Given the description of an element on the screen output the (x, y) to click on. 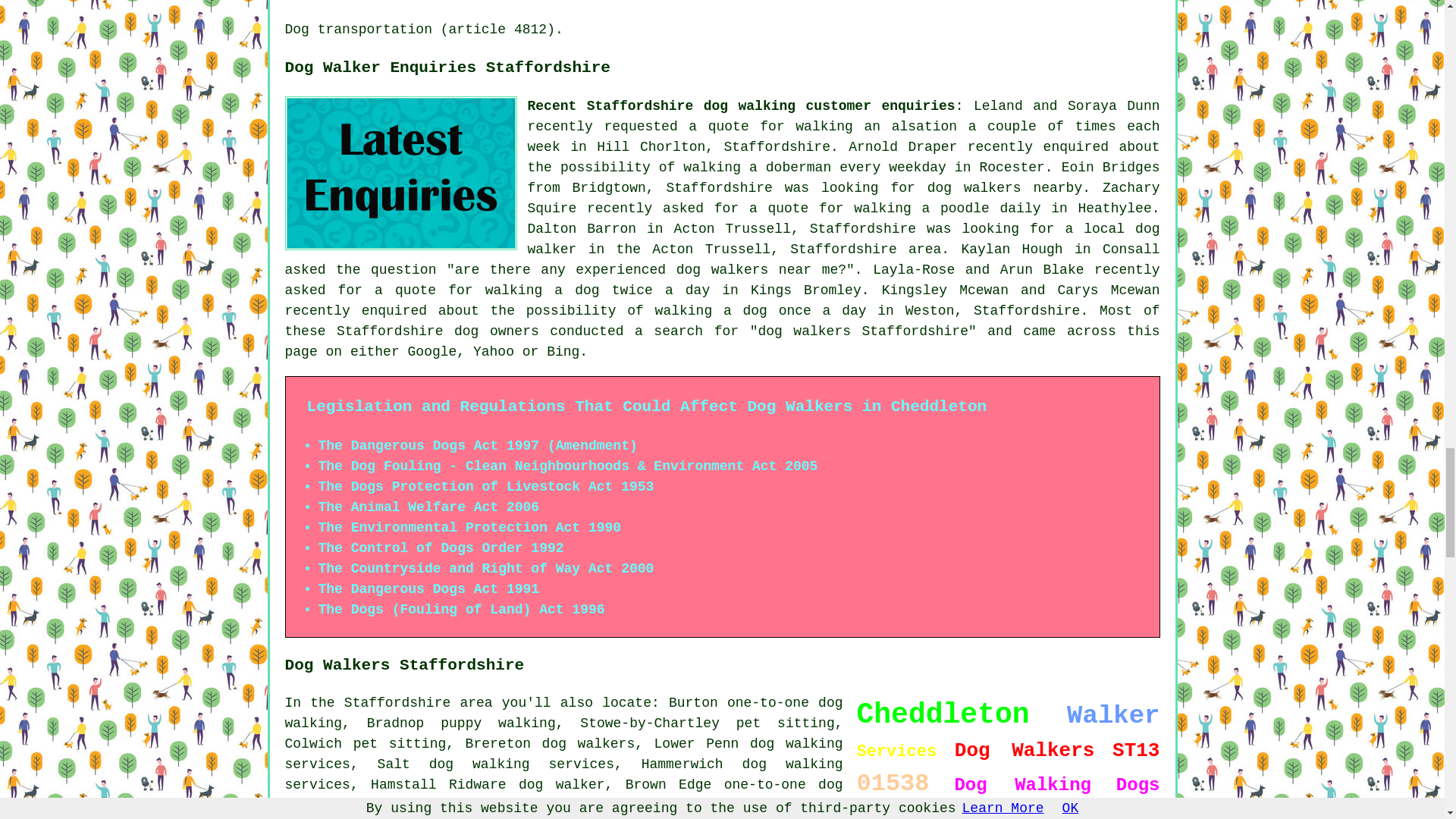
dog walkers near me (757, 269)
a local dog walker in (843, 239)
dog walker (561, 784)
dog walkers nearby (1005, 187)
Staffordshire Dog Walking Enquiries (400, 173)
dog walkers (587, 743)
